Given the description of an element on the screen output the (x, y) to click on. 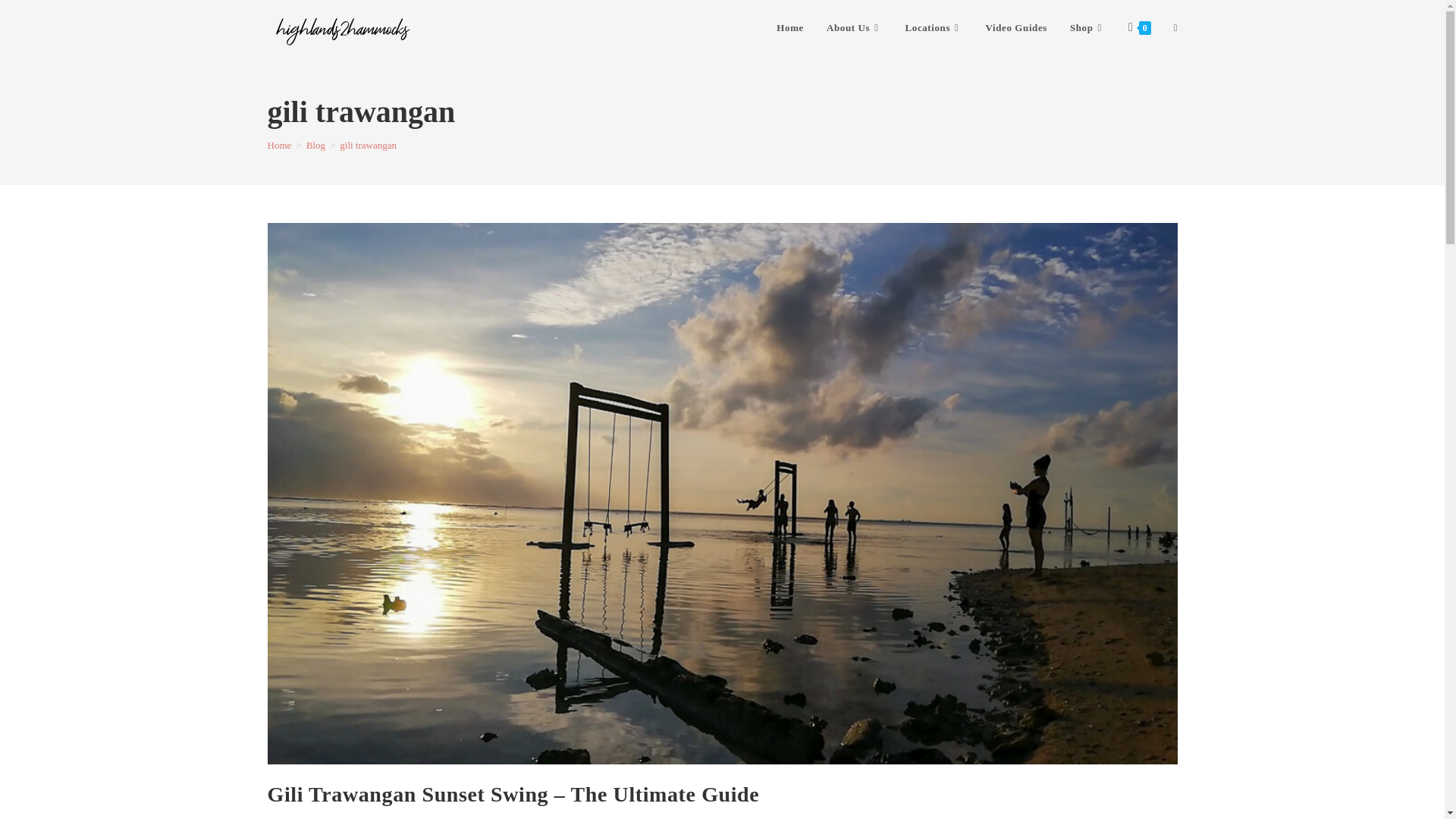
Locations (933, 28)
Home (790, 28)
About Us (854, 28)
